Given the description of an element on the screen output the (x, y) to click on. 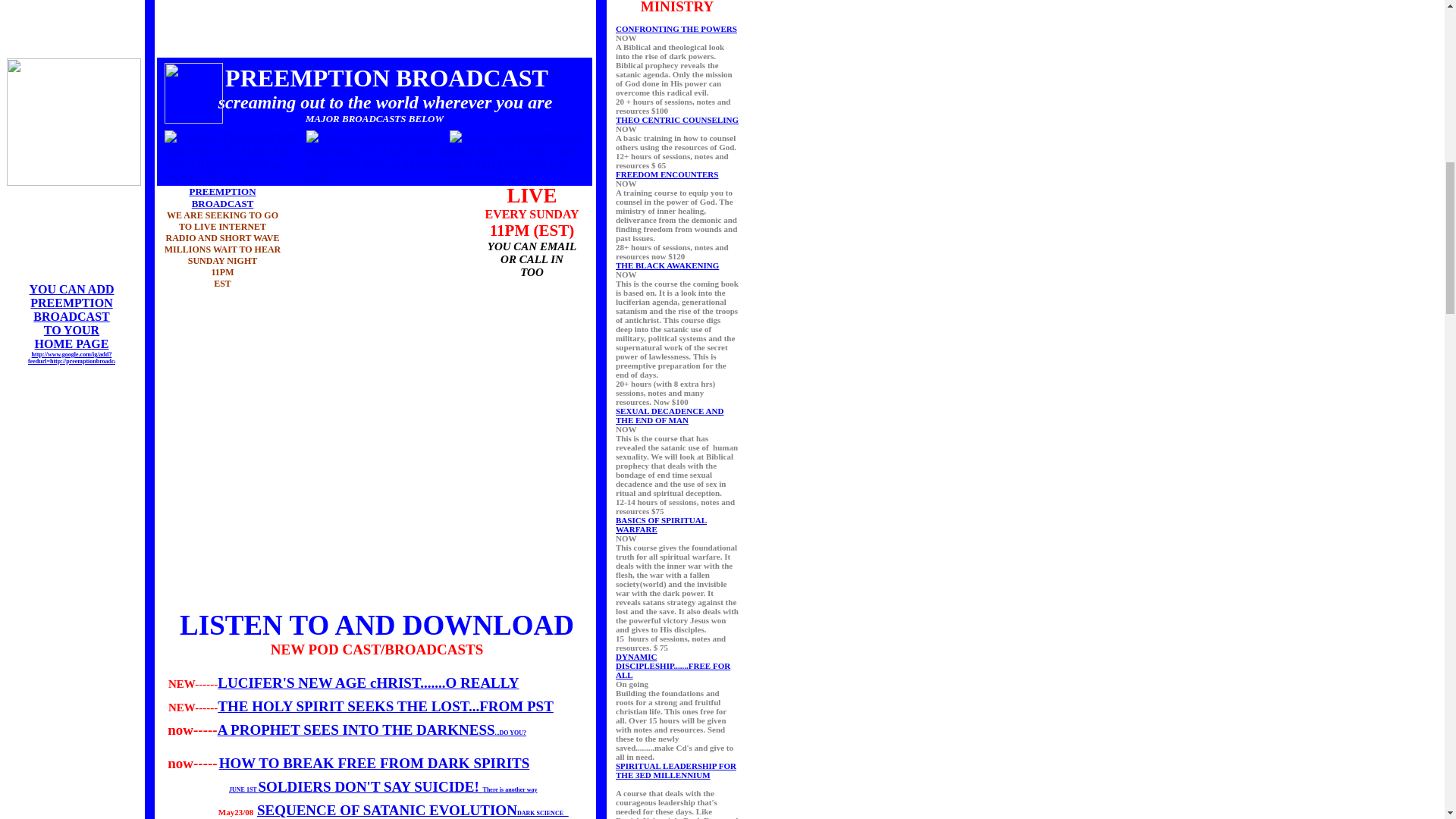
THE BLACK AWAKENING (667, 265)
FREEDOM ENCOUNTERS (666, 174)
THEO CENTRIC COUNSELING (676, 119)
CONFRONTING THE POWERS (675, 28)
YOU CAN ADD PREEMPTION BROADCAST TO YOUR HOME PAGE (71, 316)
BASICS OF SPIRITUAL WARFARE (660, 524)
SPIRITUAL LEADERSHIP FOR THE 3ED MILLENNIUM (675, 770)
SEXUAL DECADENCE AND THE END OF MAN (669, 415)
DYNAMIC DISCIPLESHIP.......FREE FOR ALL (672, 665)
